Given the description of an element on the screen output the (x, y) to click on. 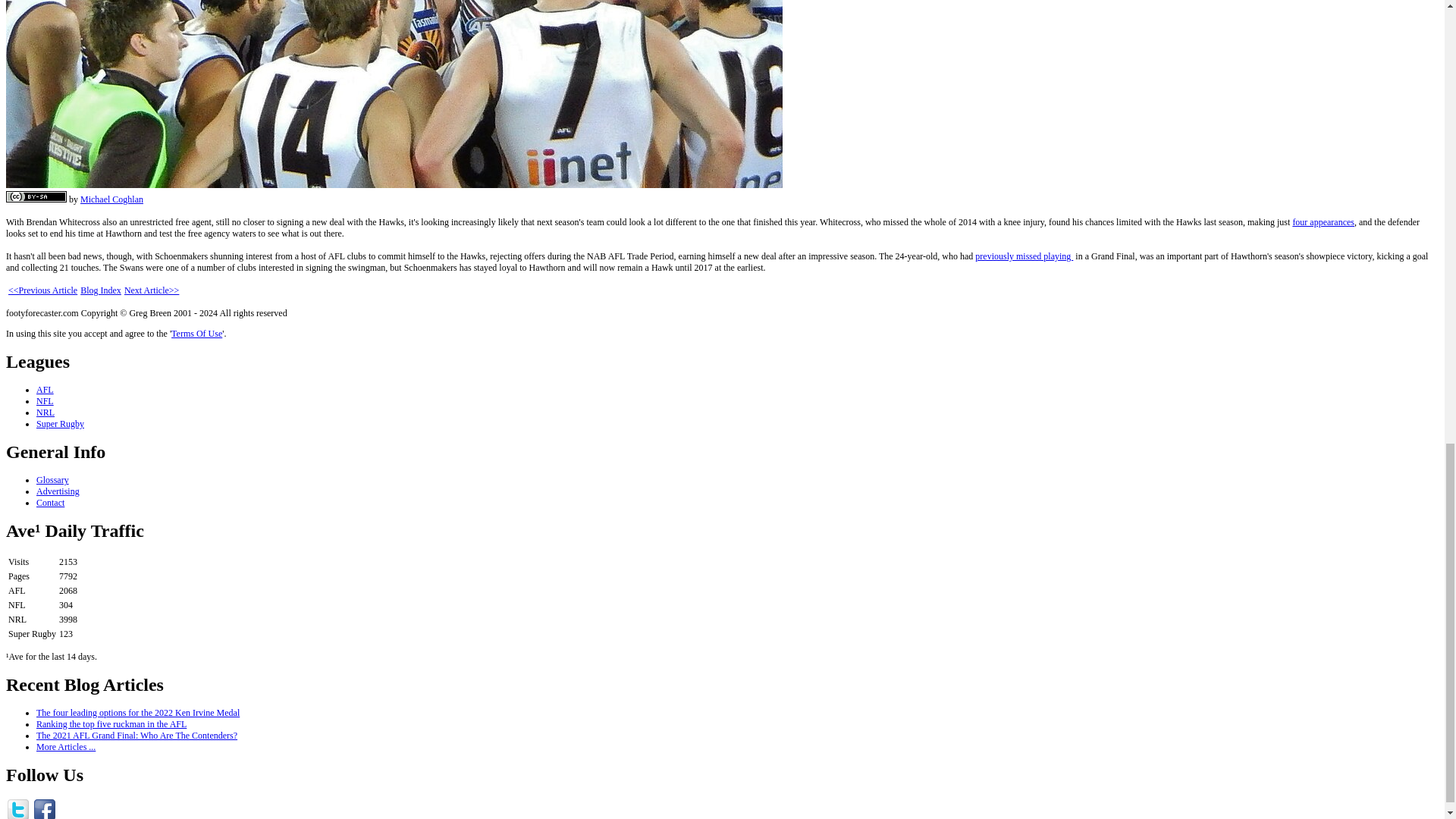
The four leading options for the 2022 Ken Irvine Medal (138, 712)
Michael Coghlan (111, 199)
Super Rugby (60, 423)
Ranking the top five ruckman in the AFL (111, 724)
previously missed playing  (1024, 255)
NFL (44, 400)
Terms Of Use (196, 333)
More Articles ... (66, 747)
Blog Index (100, 290)
four appearances (1323, 222)
Contact (50, 502)
The 2021 AFL Grand Final: Who Are The Contenders? (136, 735)
Glossary (52, 480)
NRL (45, 412)
AFL (44, 389)
